Given the description of an element on the screen output the (x, y) to click on. 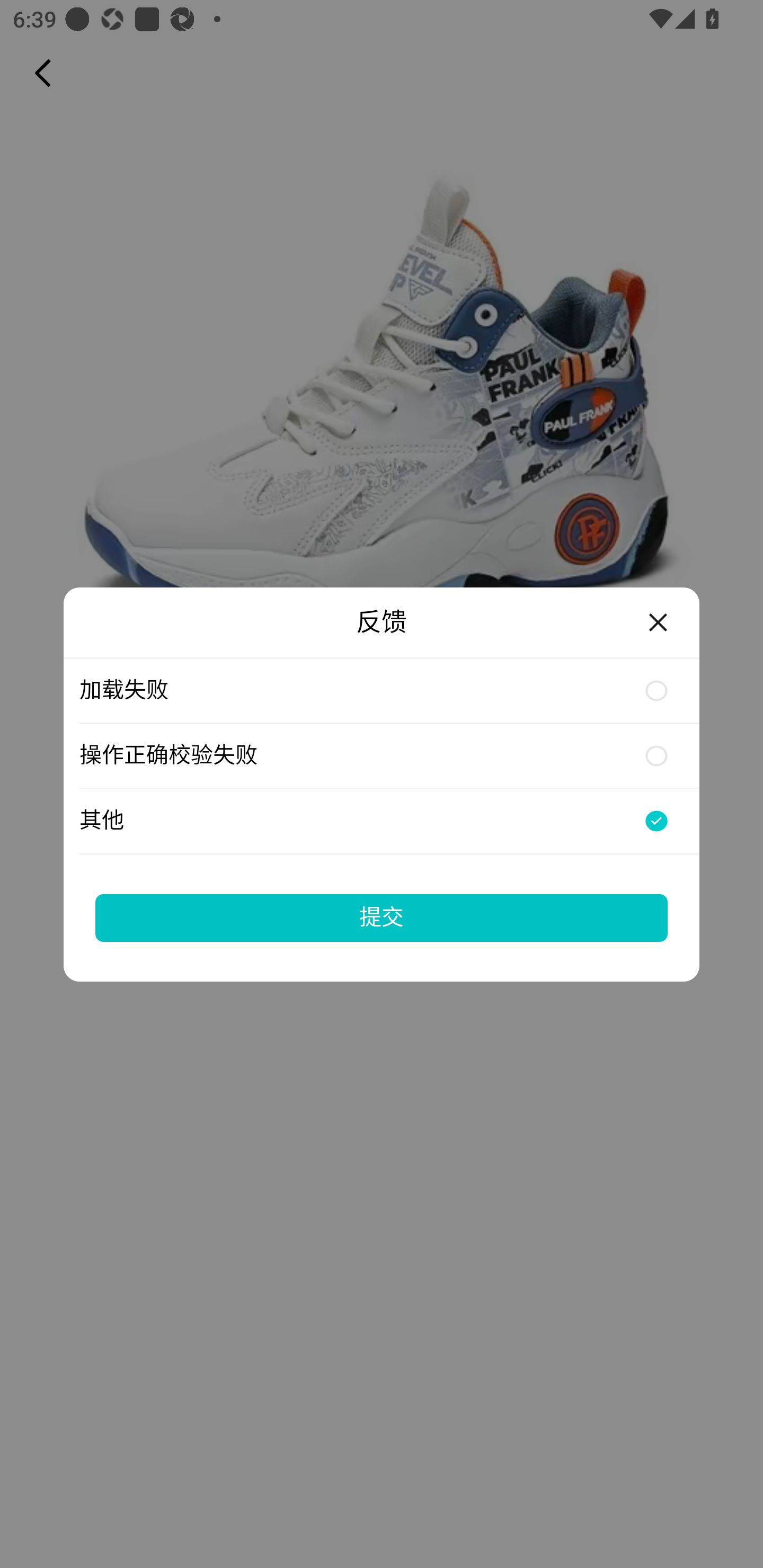
提交 (381, 917)
